Given the description of an element on the screen output the (x, y) to click on. 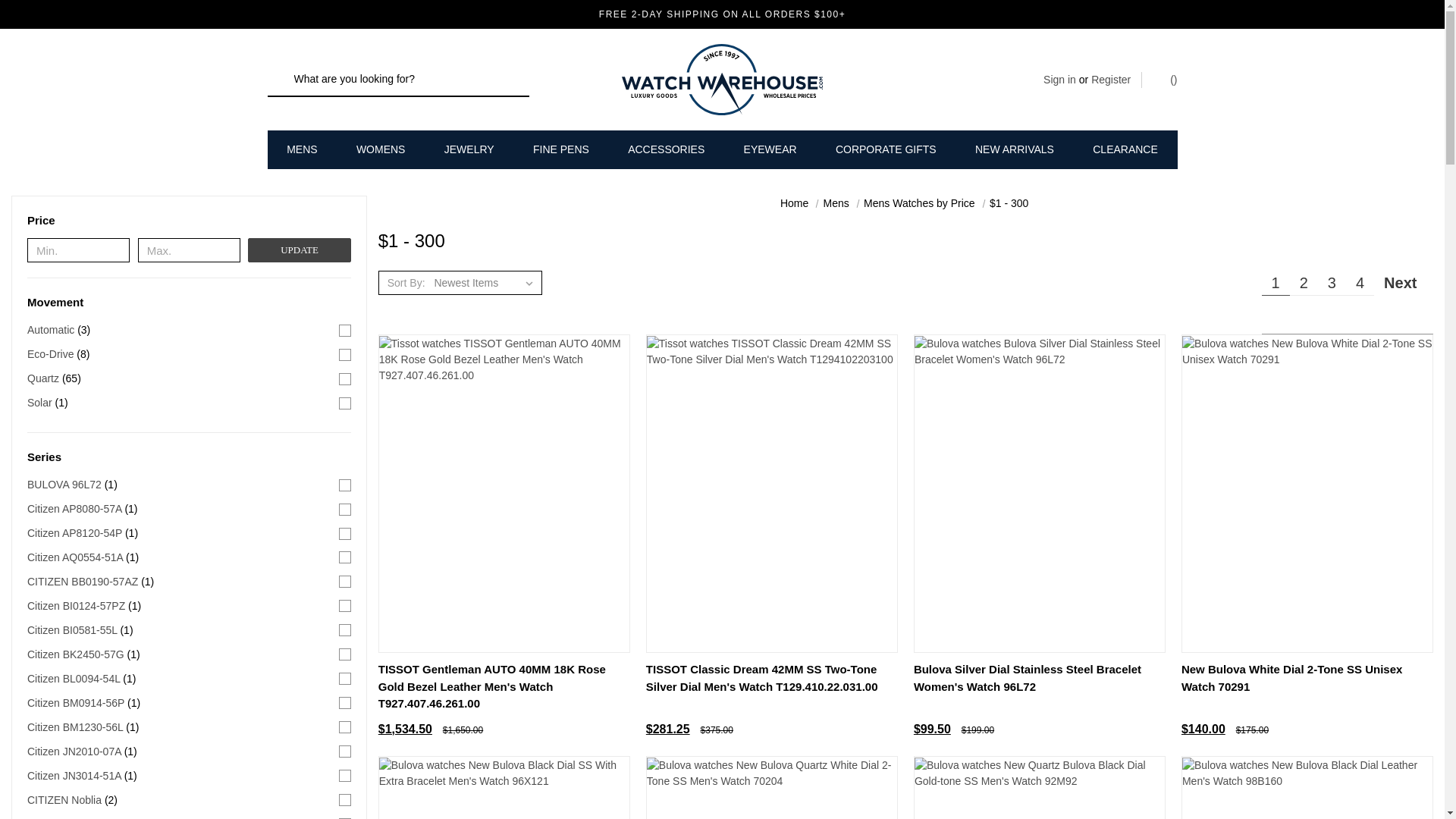
MENS (302, 149)
Sign in (1059, 79)
Register (1110, 79)
